Given the description of an element on the screen output the (x, y) to click on. 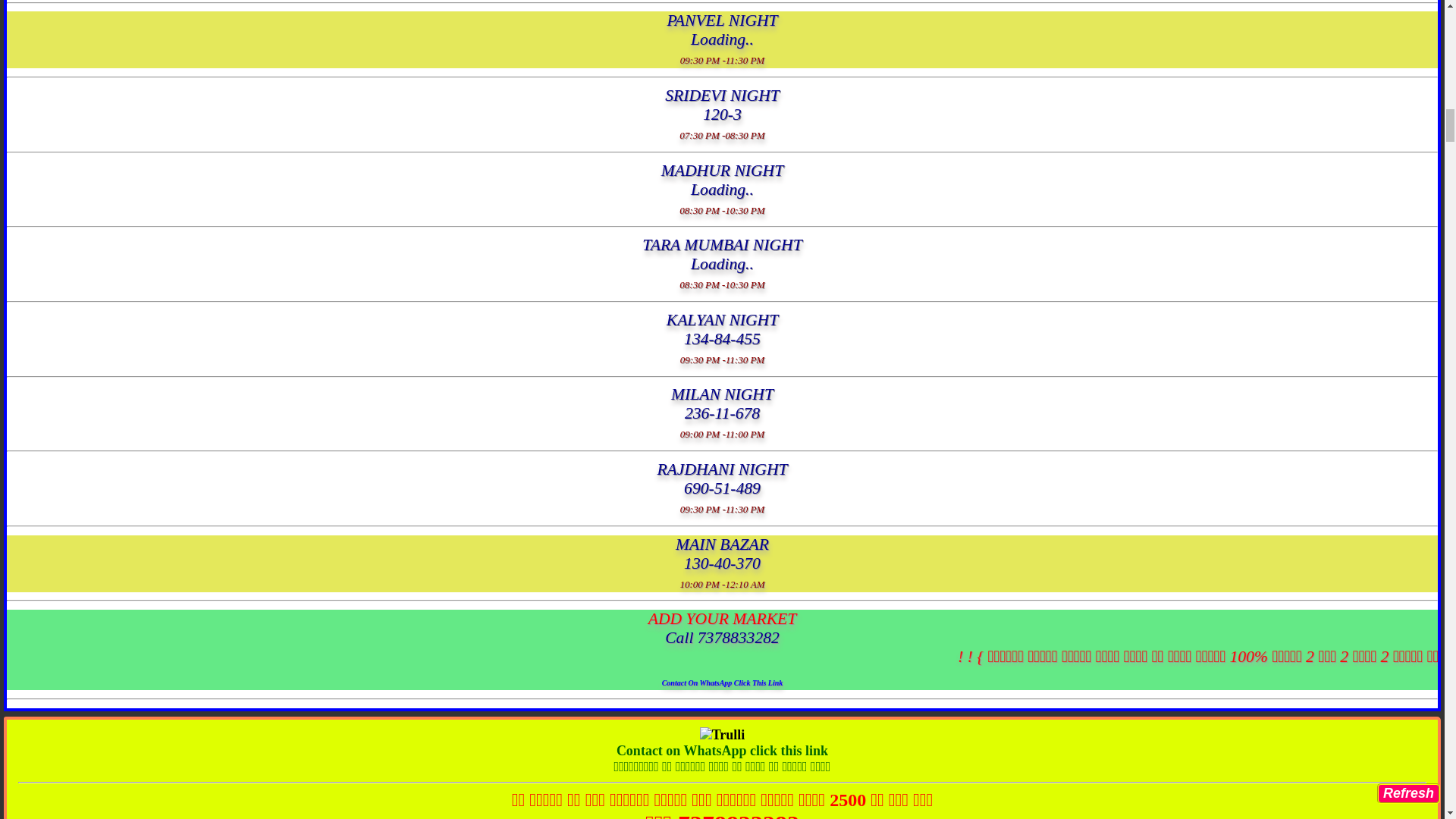
Contact On WhatsApp Click This Link (722, 679)
Call Satta Matka (722, 817)
